Given the description of an element on the screen output the (x, y) to click on. 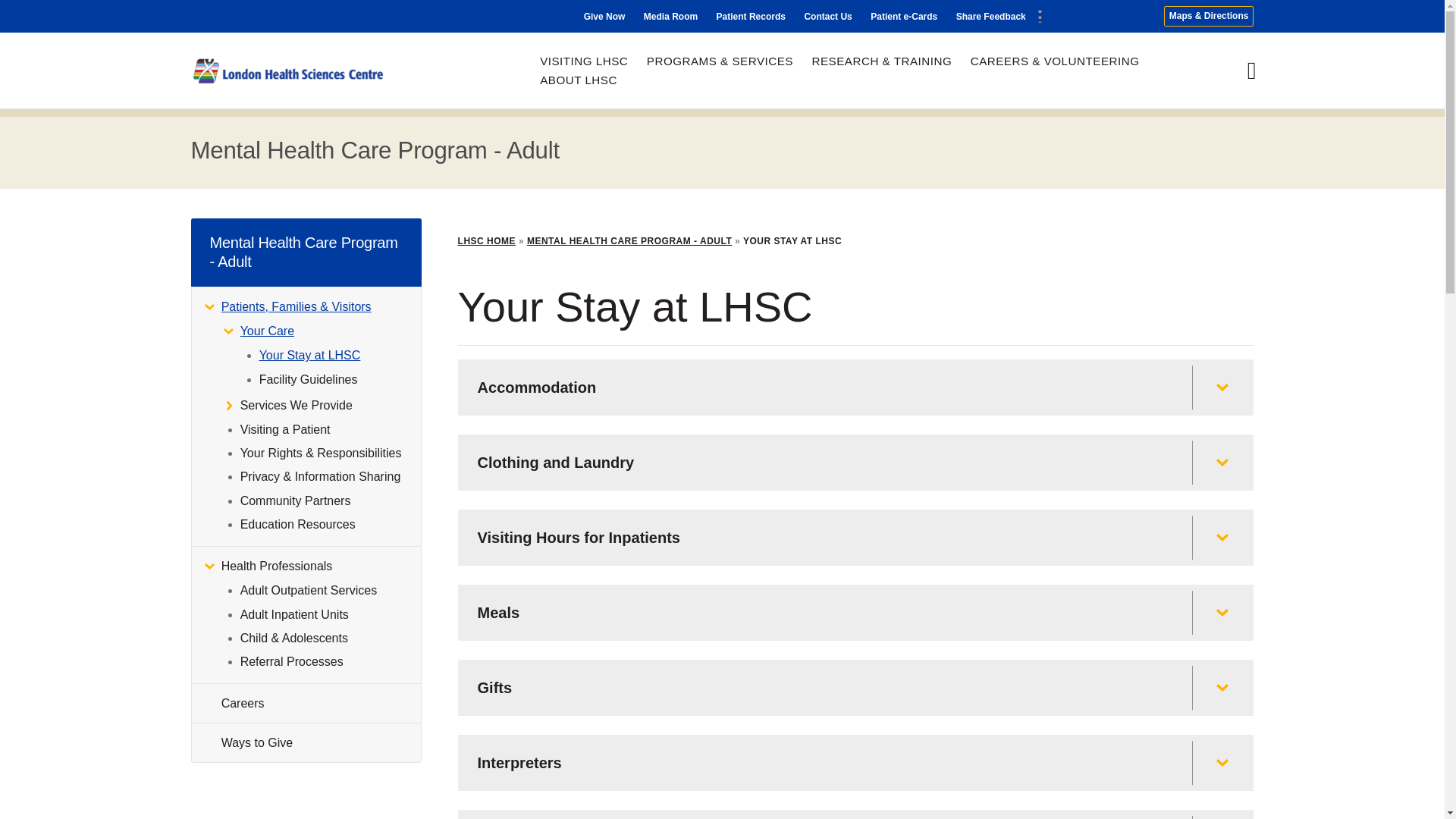
Contact Us (827, 16)
Donate to LHSC (604, 16)
London Health Sciences Centre Home (287, 70)
Mental Health Care Program - Adult (374, 150)
MENTAL HEALTH CARE PROGRAM - ADULT (629, 240)
Share Feedback (991, 16)
Patient Records (751, 16)
LHSC HOME (487, 240)
ABOUT LHSC (578, 79)
Finding Your Way Around LHSC (1208, 15)
VISITING LHSC (583, 60)
Give Now (604, 16)
Media Room (670, 16)
